Given the description of an element on the screen output the (x, y) to click on. 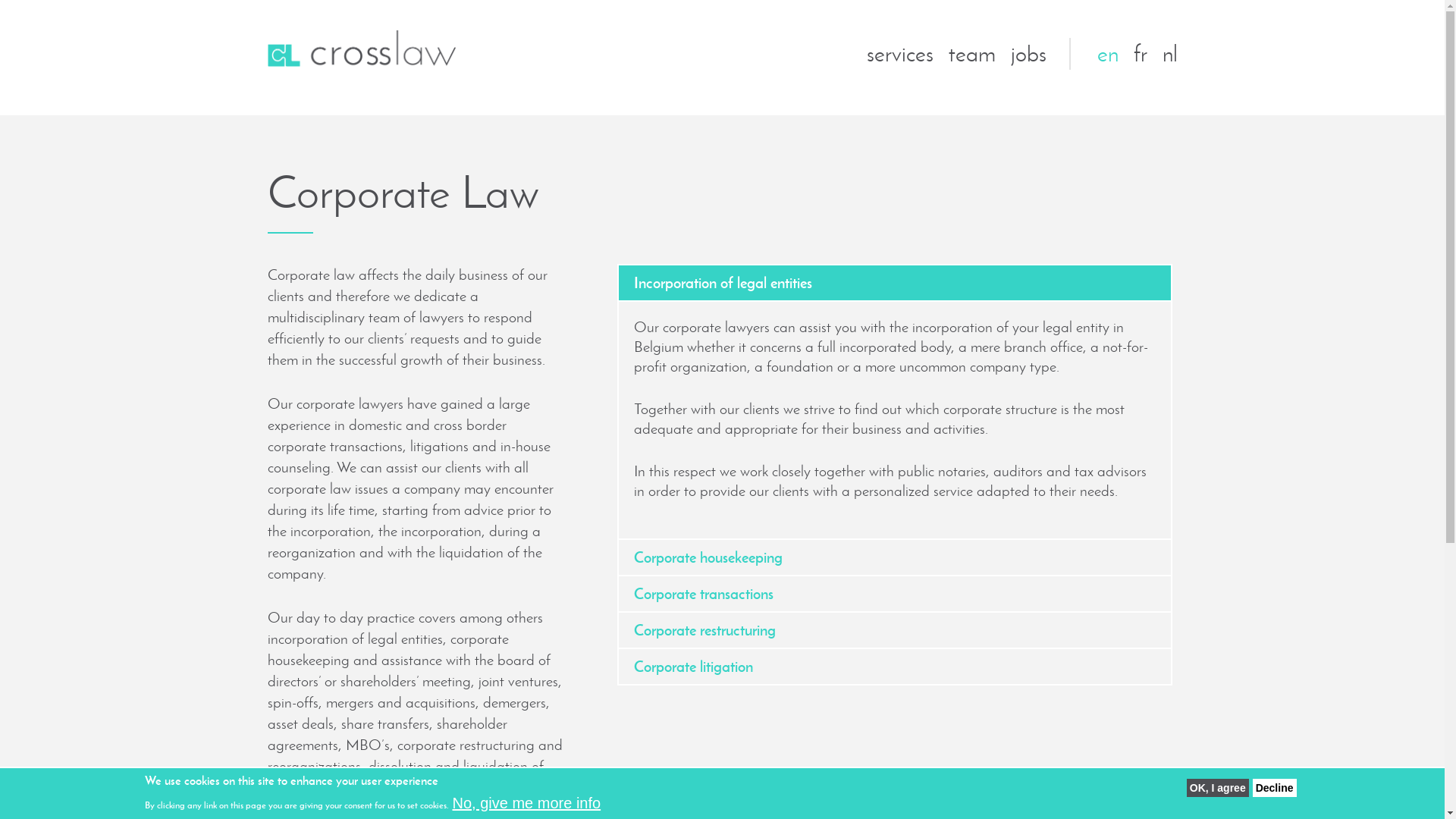
Crosslaw Element type: text (360, 48)
jobs Element type: text (1027, 53)
nl Element type: text (1168, 53)
team Element type: text (970, 53)
OK, I agree Element type: text (1217, 787)
Decline Element type: text (1274, 787)
Skip to main content Element type: text (630, 0)
No, give me more info Element type: text (525, 803)
en Element type: text (1106, 53)
fr Element type: text (1139, 53)
services Element type: text (899, 53)
